Given the description of an element on the screen output the (x, y) to click on. 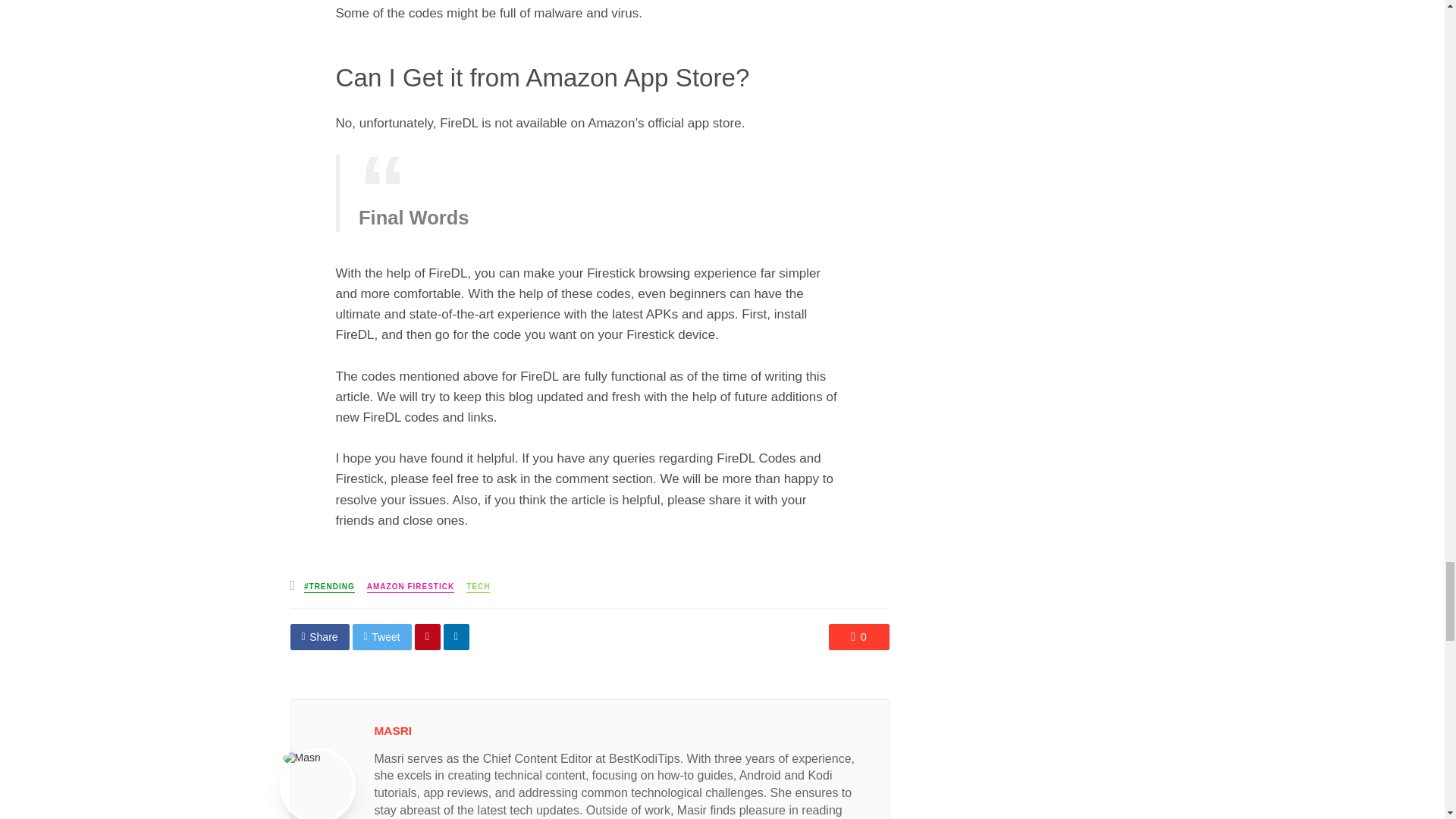
Posts by Masri (393, 730)
Share on Linkedin (456, 637)
Share on Twitter (382, 637)
0 Comments (858, 637)
Share on Pinterest (427, 637)
Share on Facebook (319, 637)
